Given the description of an element on the screen output the (x, y) to click on. 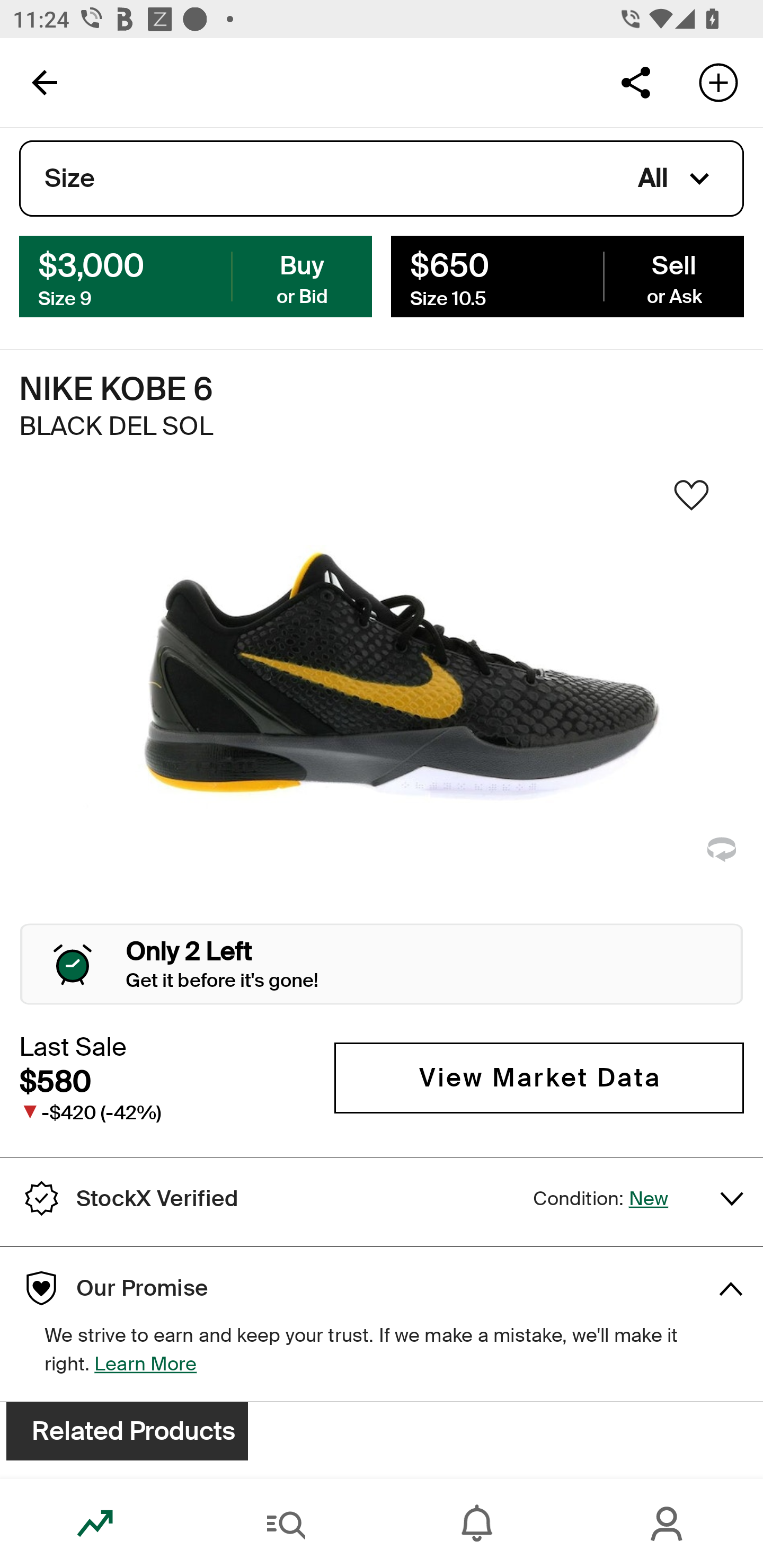
Share (635, 81)
Add (718, 81)
Size All (381, 178)
$238 Buy Size 5 or Bid (195, 275)
$469 Sell Size 12 or Ask (566, 275)
Sneaker Image (381, 699)
View Market Data (538, 1077)
Search (285, 1523)
Inbox (476, 1523)
Account (667, 1523)
